Given the description of an element on the screen output the (x, y) to click on. 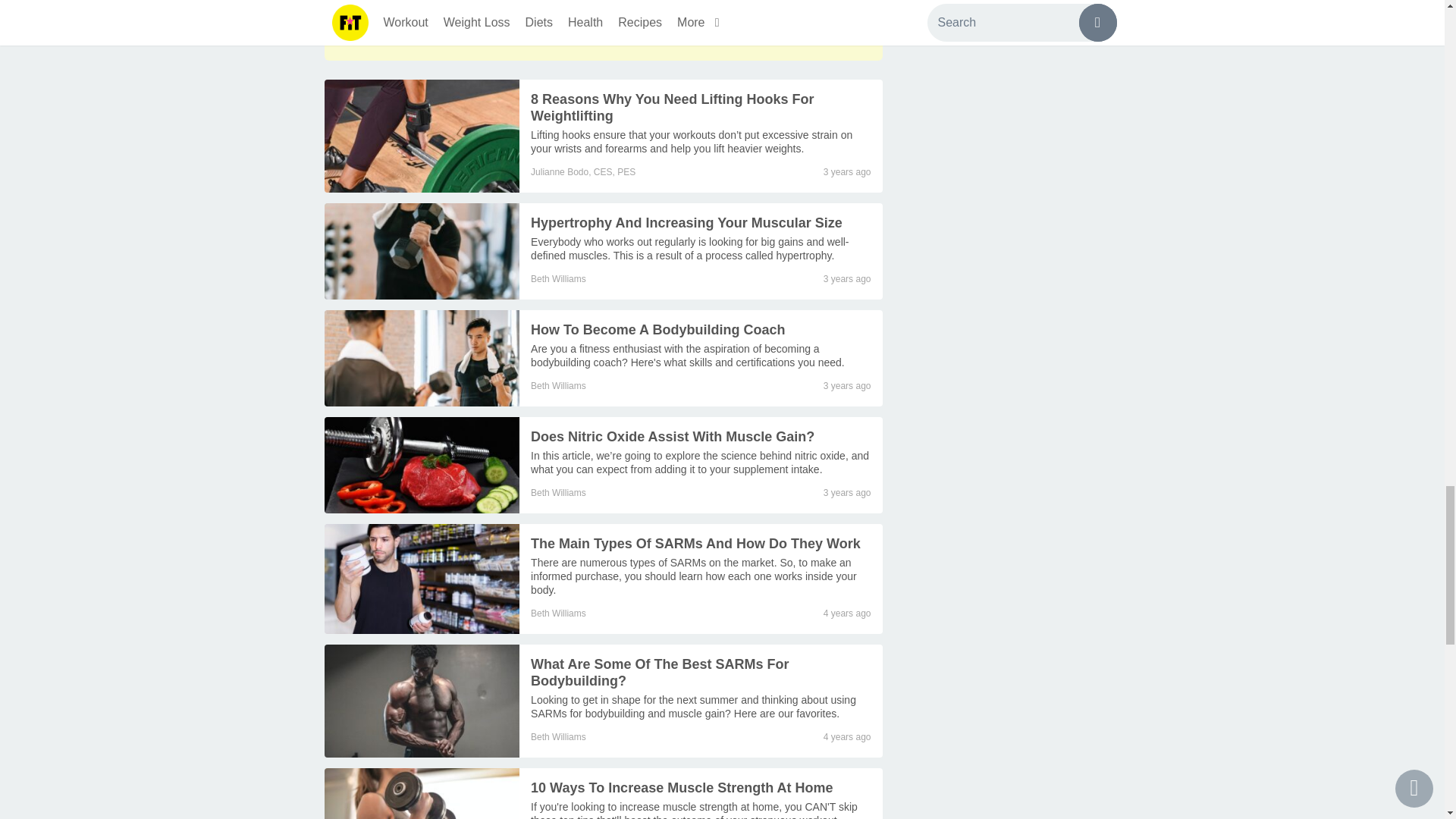
8 Reasons Why You Need Lifting Hooks For Weightlifting (421, 135)
8 Reasons Why You Need Lifting Hooks For Weightlifting (672, 107)
